Given the description of an element on the screen output the (x, y) to click on. 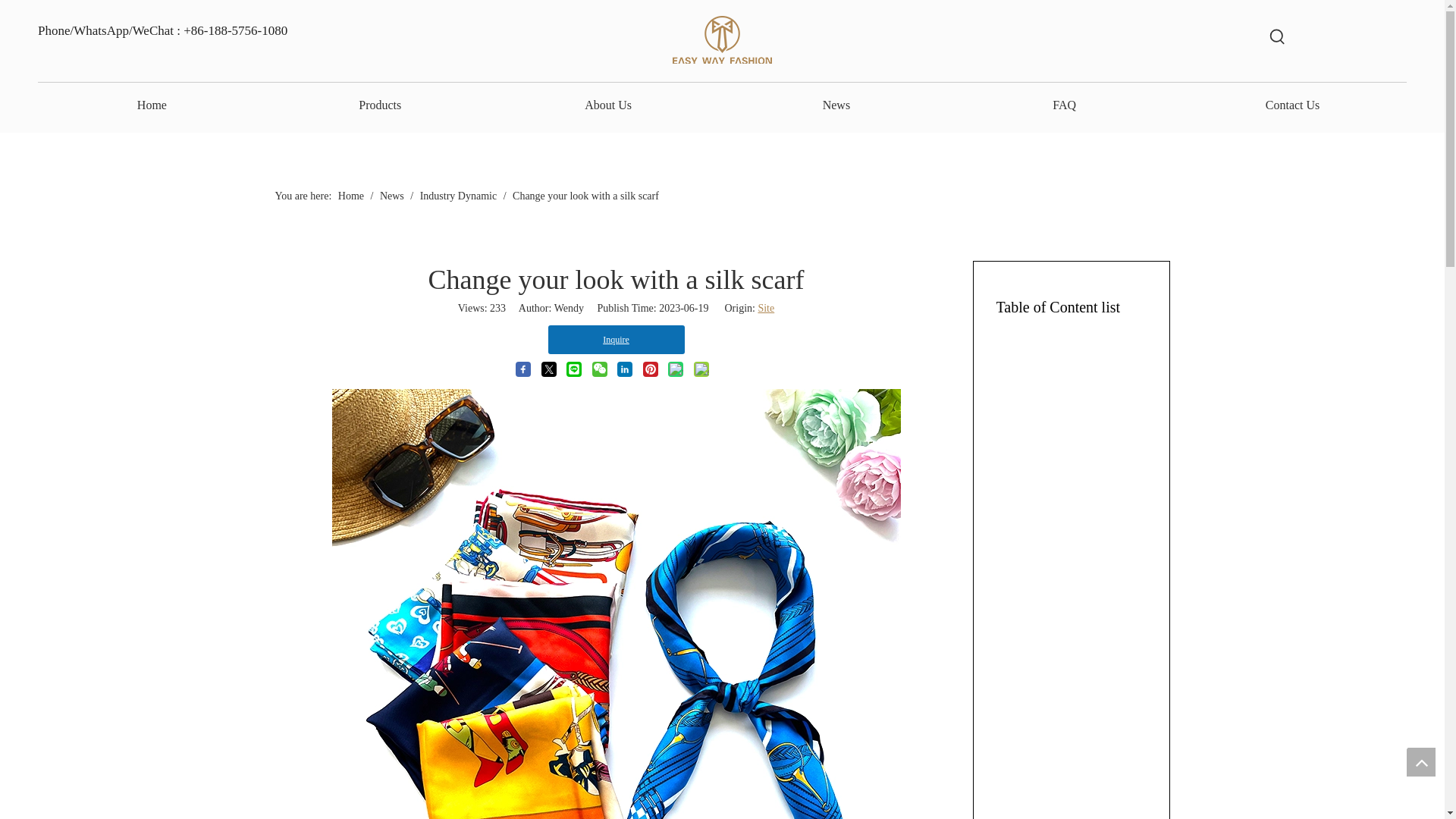
Home (351, 195)
Site (765, 307)
WechatIMG240 (722, 40)
News (836, 104)
News (393, 195)
Inquire (615, 339)
Industry Dynamic (459, 195)
Contact Us (1291, 104)
FAQ (1063, 104)
Products (380, 104)
